Given the description of an element on the screen output the (x, y) to click on. 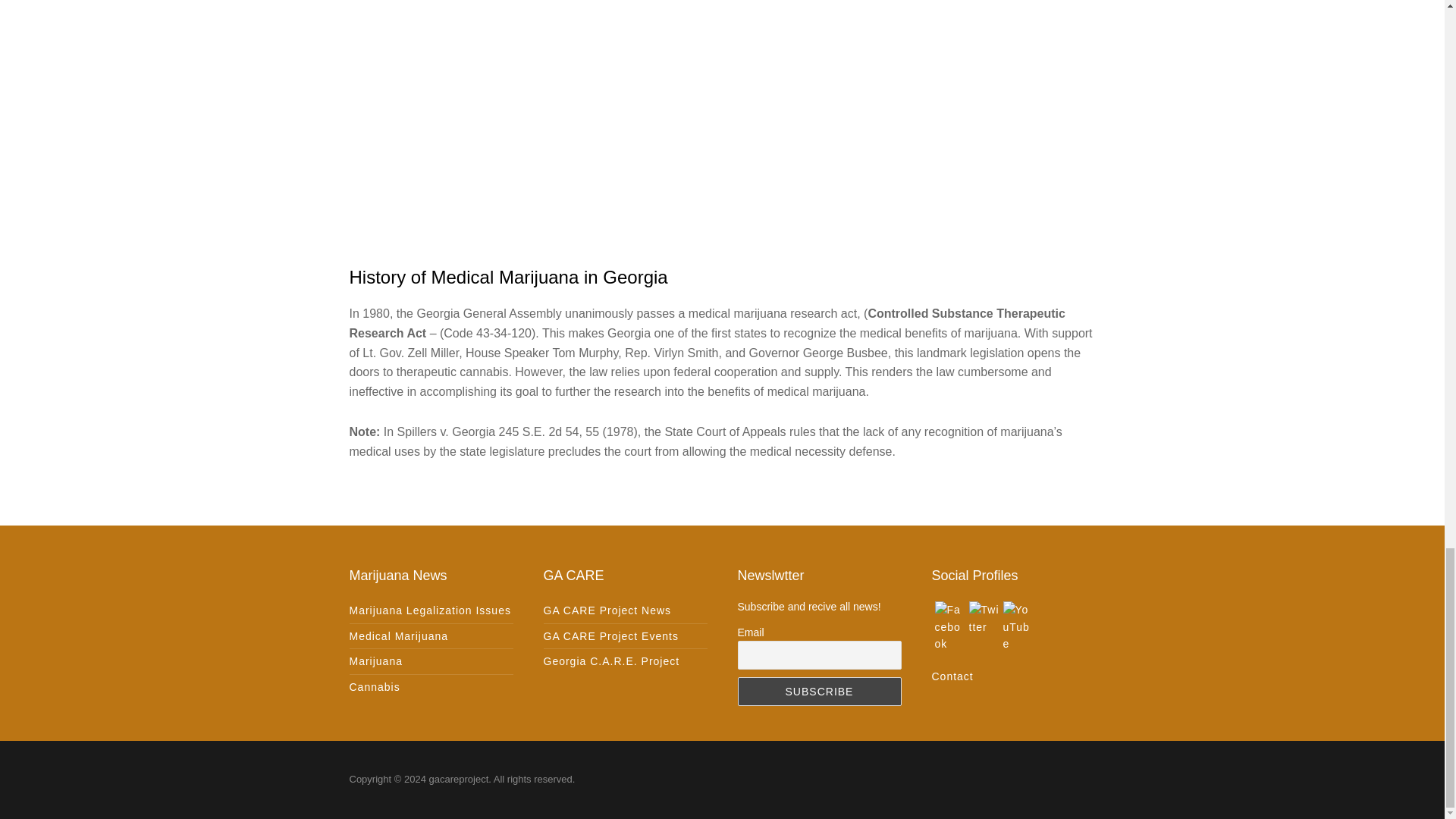
Marijuana Legalization Issues (430, 610)
Georgia C.A.R.E. Project (611, 661)
GA CARE Project News (607, 610)
Marijuana (375, 661)
Subscribe (818, 691)
Subscribe (818, 691)
Contact (951, 676)
Medical Marijuana (398, 636)
GA CARE Project Events (610, 636)
Cannabis (373, 686)
